Given the description of an element on the screen output the (x, y) to click on. 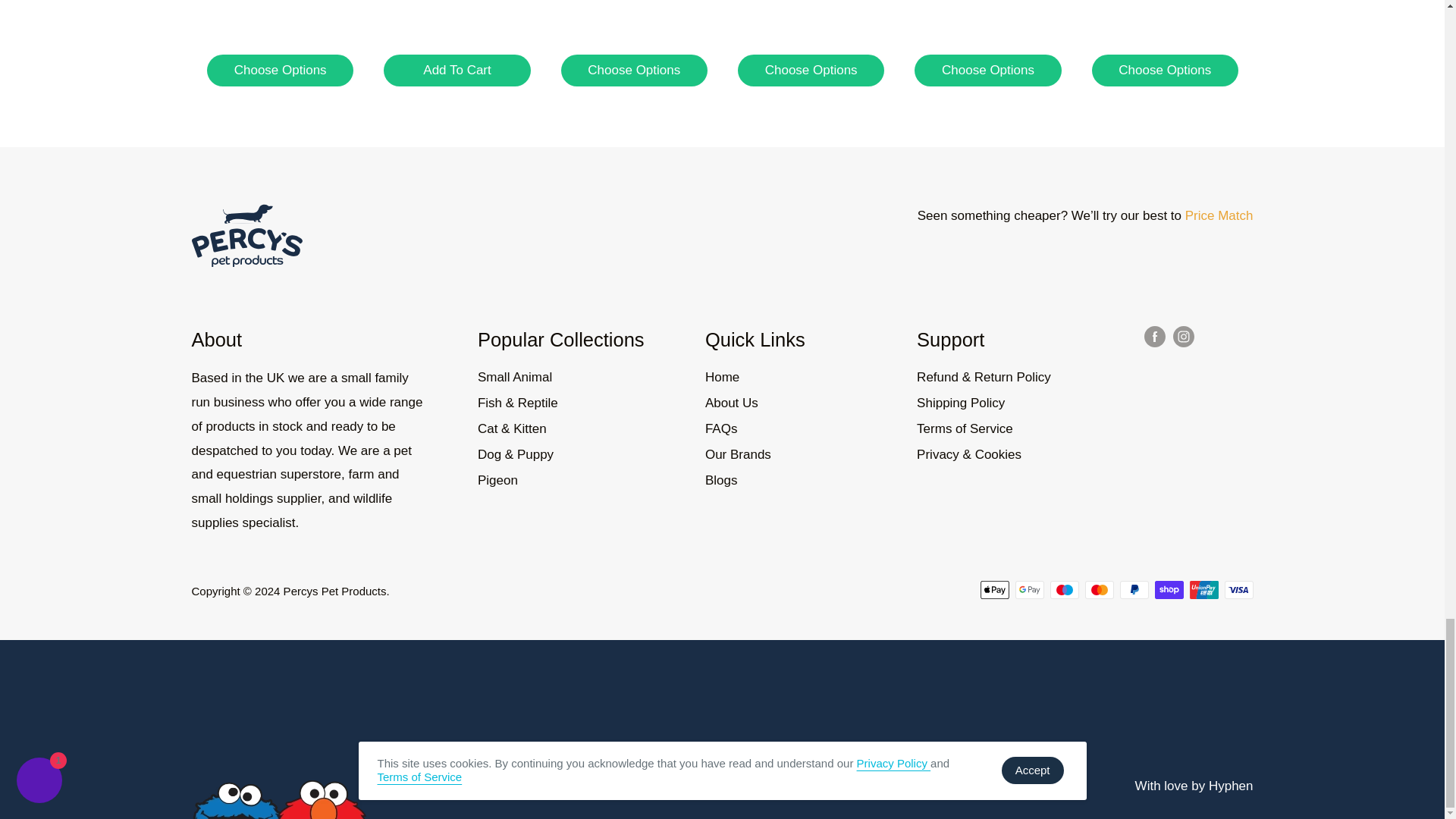
Customer reviews powered by Trustpilot (721, 696)
